Given the description of an element on the screen output the (x, y) to click on. 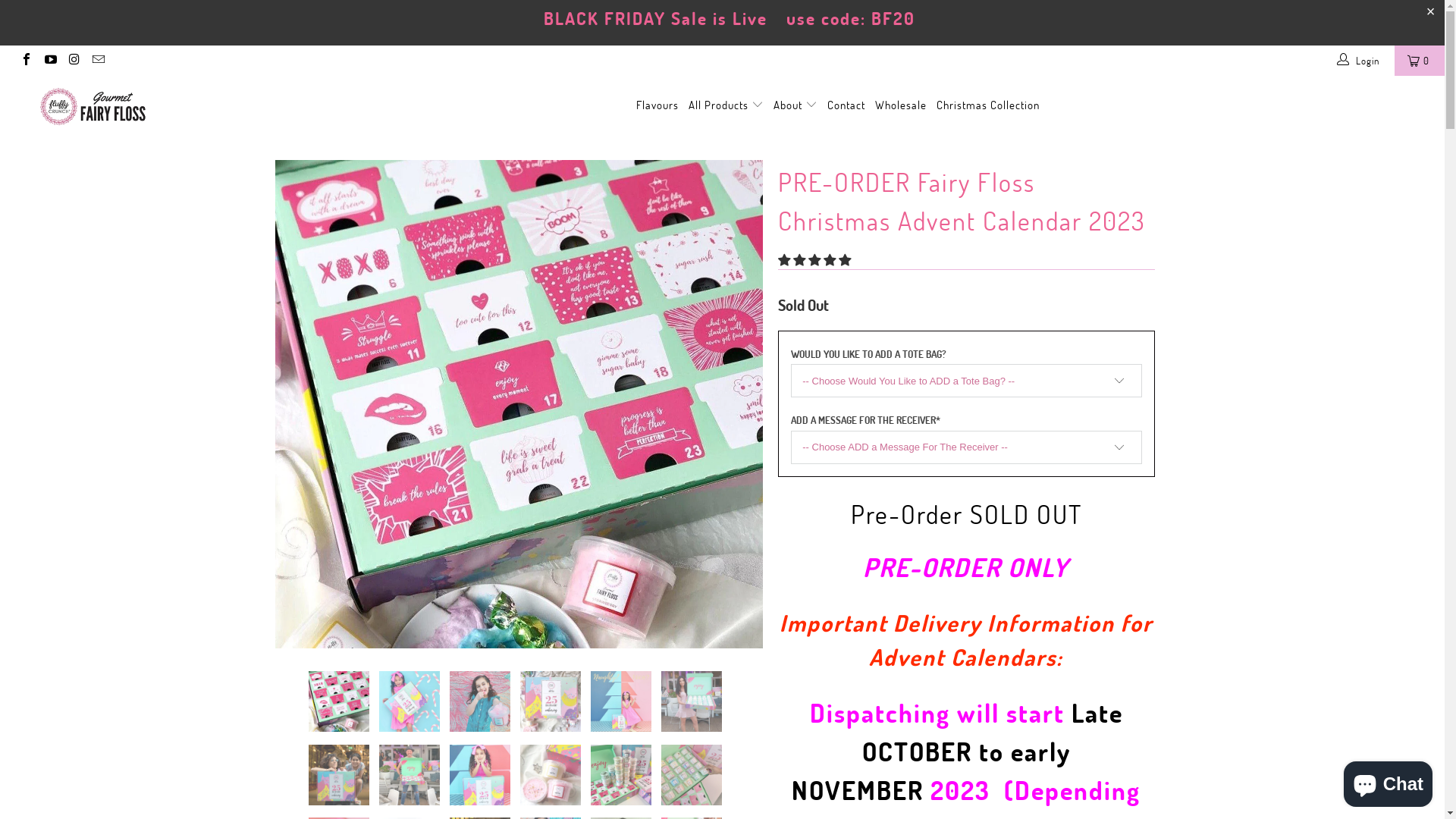
All Products Element type: text (725, 105)
Contact Element type: text (846, 105)
Fluffy Crunch Element type: hover (123, 106)
Christmas Collection Element type: text (987, 105)
About Element type: text (795, 105)
Fluffy Crunch on Instagram Element type: hover (73, 60)
Shopify online store chat Element type: hover (1388, 780)
Flavours Element type: text (657, 105)
Email Fluffy Crunch Element type: hover (96, 60)
0 Element type: text (1419, 60)
Fluffy Crunch on Facebook Element type: hover (25, 60)
Login Element type: text (1358, 60)
Wholesale Element type: text (900, 105)
Fluffy Crunch on YouTube Element type: hover (49, 60)
